Given the description of an element on the screen output the (x, y) to click on. 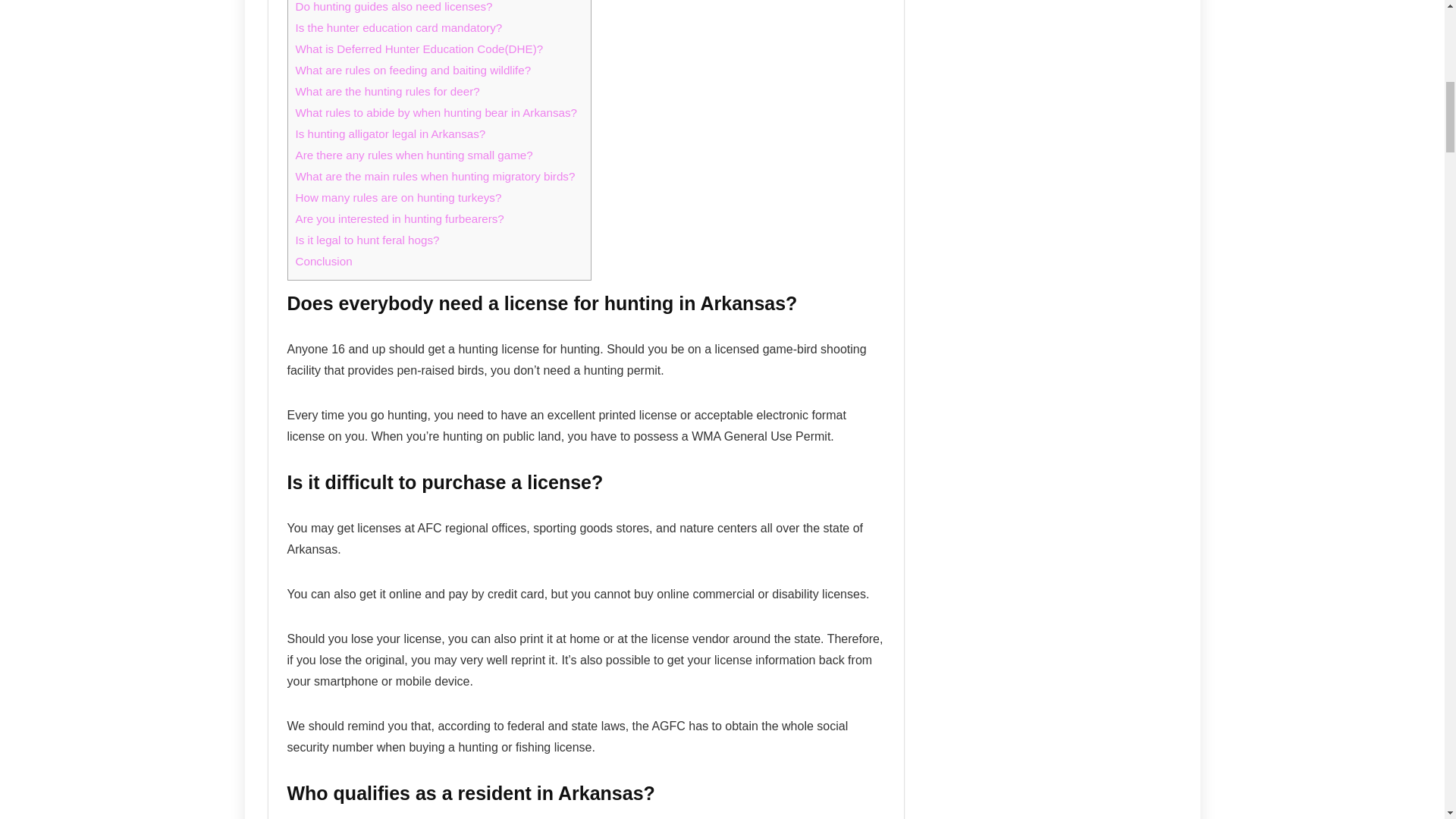
What are the hunting rules for deer? (387, 91)
What are the main rules when hunting migratory birds? (435, 175)
Conclusion (323, 260)
Are you interested in hunting furbearers? (399, 218)
What are rules on feeding and baiting wildlife? (413, 69)
What rules to abide by when hunting bear in Arkansas? (435, 112)
Do hunting guides also need licenses? (394, 6)
Are there any rules when hunting small game? (413, 154)
Is it legal to hunt feral hogs? (367, 239)
How many rules are on hunting turkeys? (398, 196)
Is the hunter education card mandatory? (398, 27)
Is hunting alligator legal in Arkansas? (390, 133)
